Given the description of an element on the screen output the (x, y) to click on. 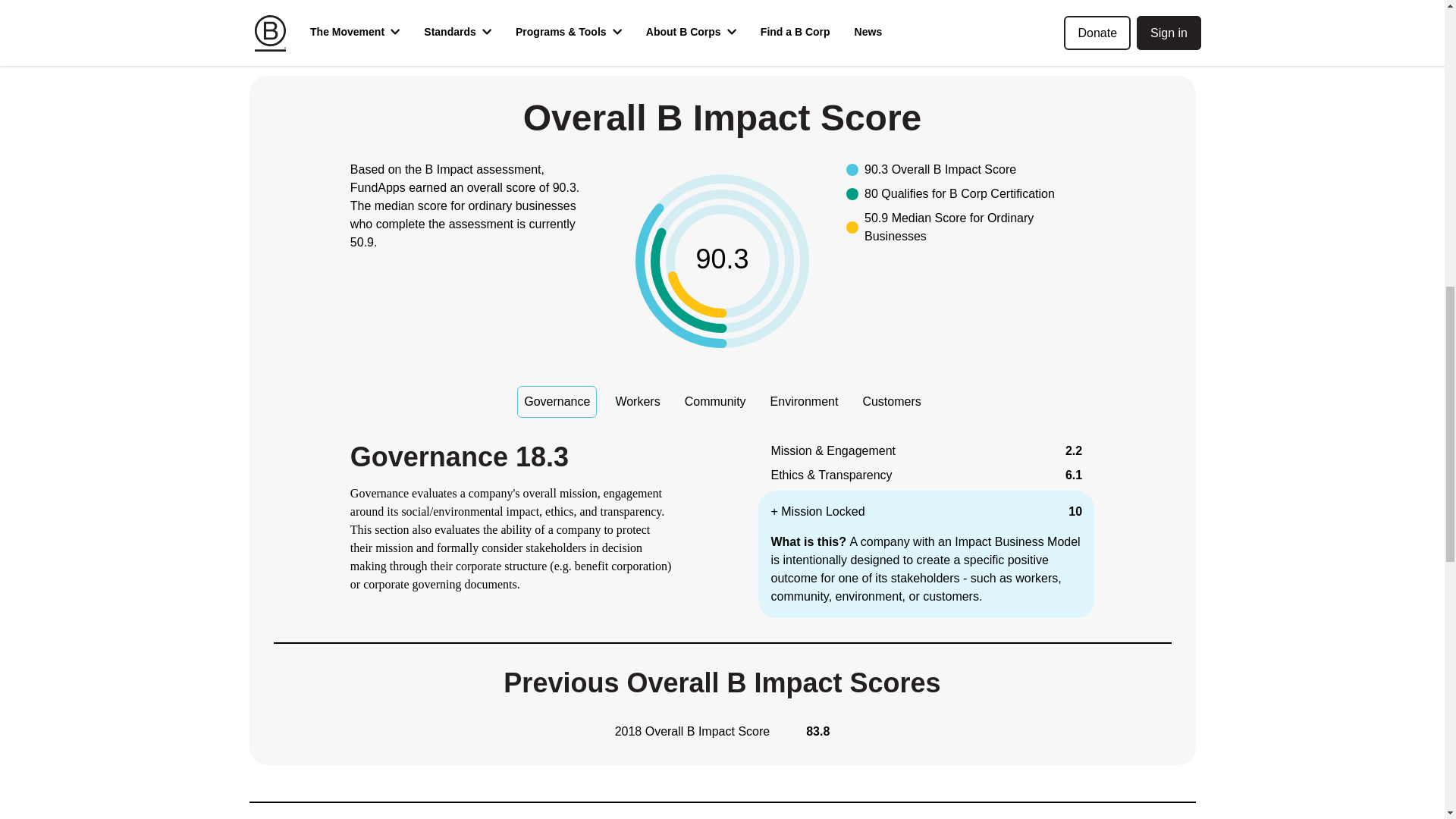
90.3 (721, 260)
